Given the description of an element on the screen output the (x, y) to click on. 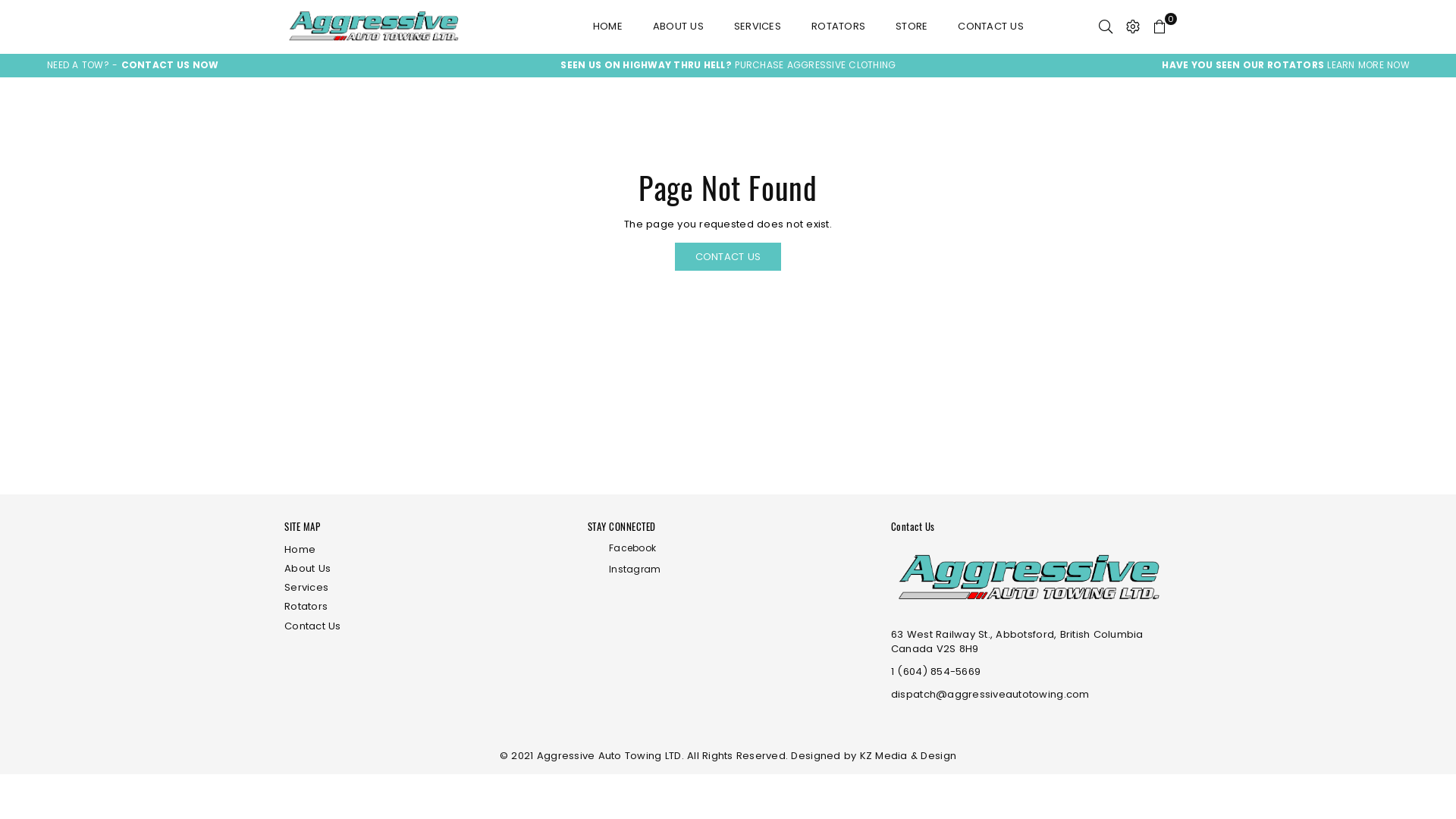
Home Element type: text (299, 549)
Settings Element type: hover (1132, 26)
Facebook Element type: text (723, 548)
SEEN US ON HIGHWAY THRU HELL? PURCHASE AGGRESSIVE CLOTHING Element type: text (727, 64)
HOME Element type: text (607, 26)
SERVICES Element type: text (757, 26)
ABOUT US Element type: text (678, 26)
NEED A TOW? - CONTACT US NOW Element type: text (132, 64)
1 (604) 854-5669 Element type: text (935, 671)
Instagram Element type: text (723, 569)
HAVE YOU SEEN OUR ROTATORS LEARN MORE NOW Element type: text (1285, 64)
Aggressive Auto Towing Ltd. Element type: text (409, 26)
About Us Element type: text (307, 568)
Services Element type: text (306, 587)
ROTATORS Element type: text (838, 26)
0 Element type: text (1159, 26)
Search Element type: hover (1105, 26)
Contact Us Element type: text (312, 625)
Rotators Element type: text (305, 606)
CONTACT US Element type: text (727, 256)
STORE Element type: text (911, 26)
CONTACT US Element type: text (990, 26)
dispatch@aggressiveautotowing.com Element type: text (990, 694)
